Given the description of an element on the screen output the (x, y) to click on. 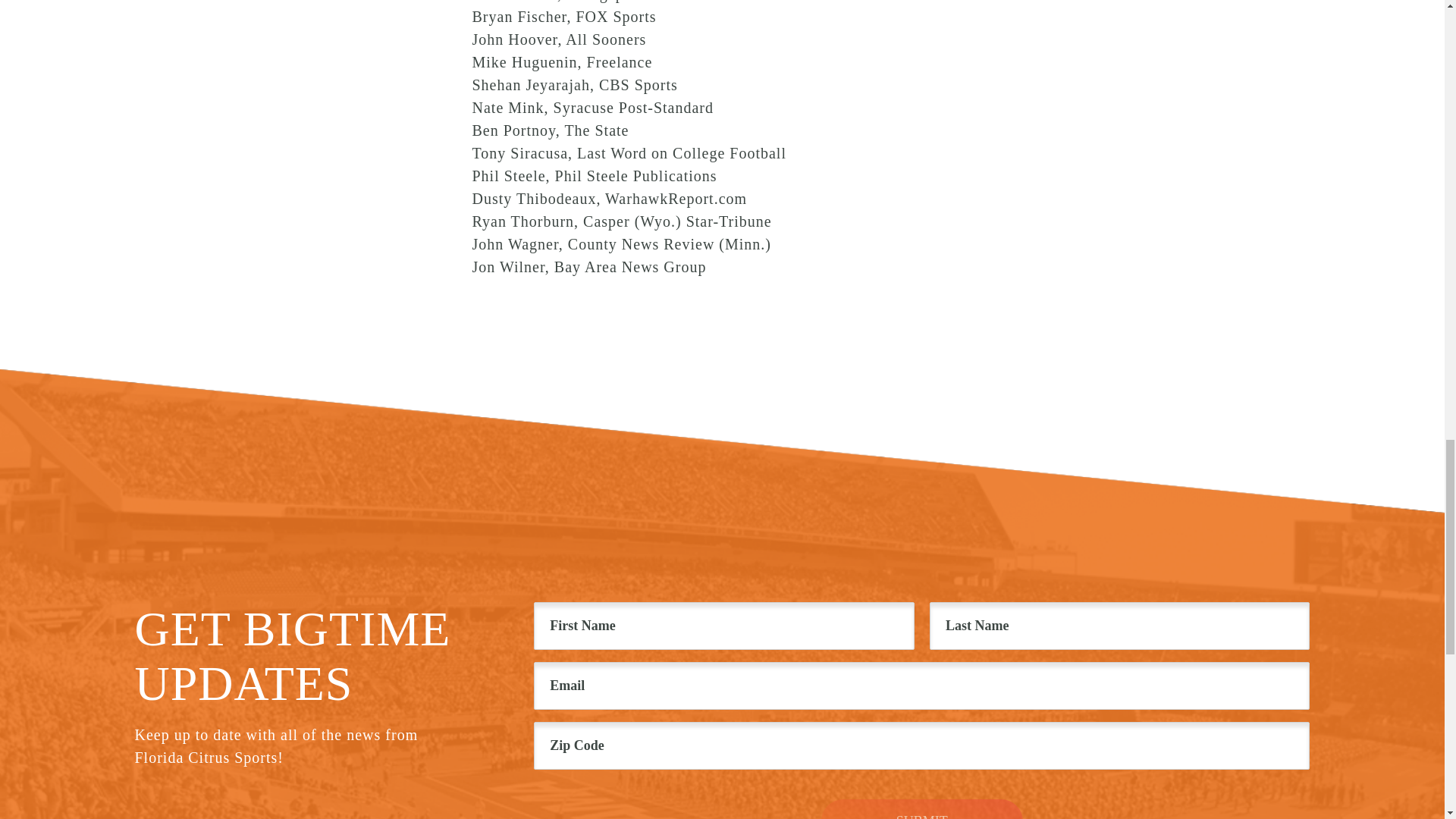
Submit (922, 809)
